Given the description of an element on the screen output the (x, y) to click on. 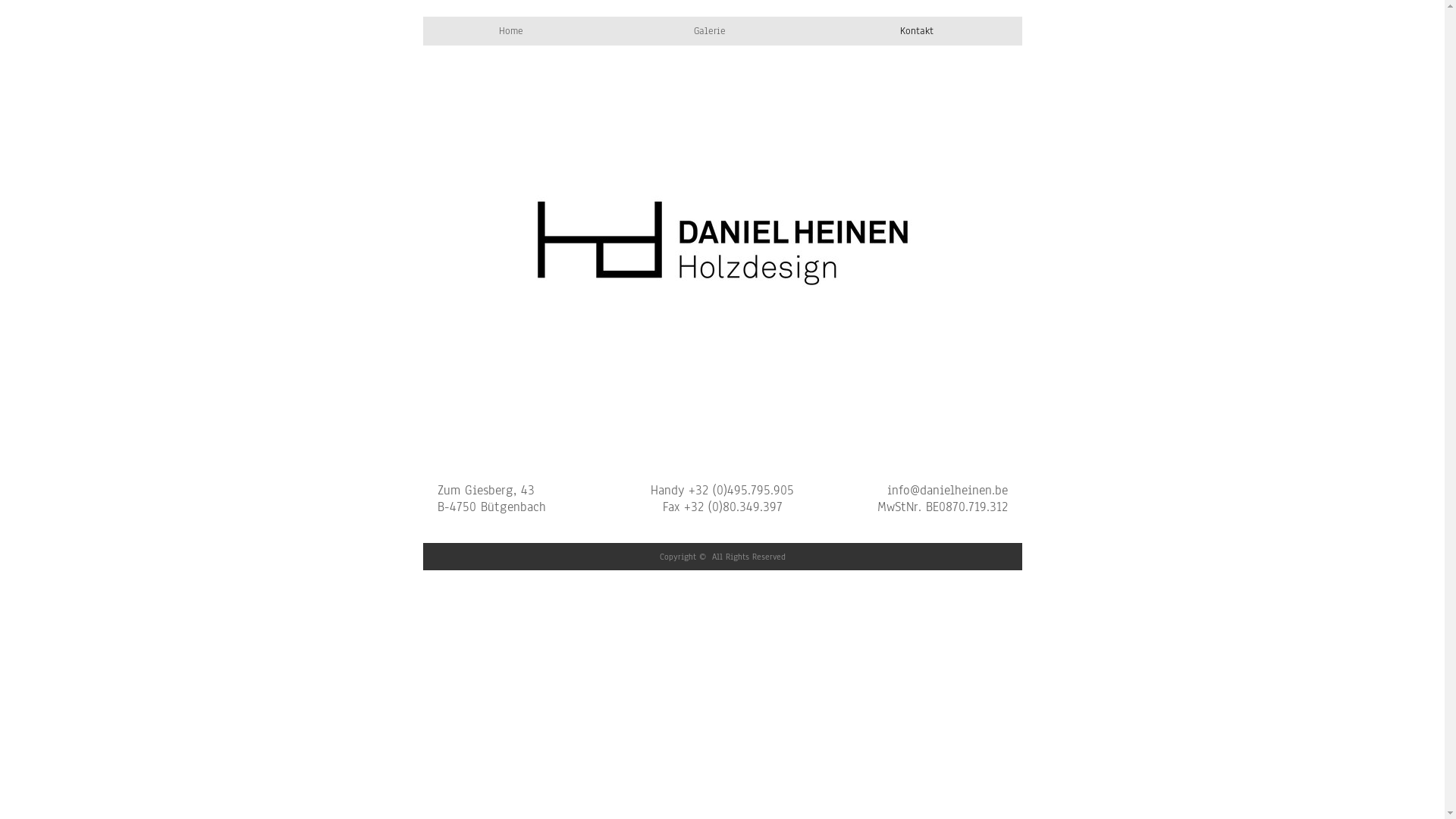
Galerie Element type: text (715, 30)
Home Element type: text (514, 30)
Kontakt Element type: text (922, 30)
